Given the description of an element on the screen output the (x, y) to click on. 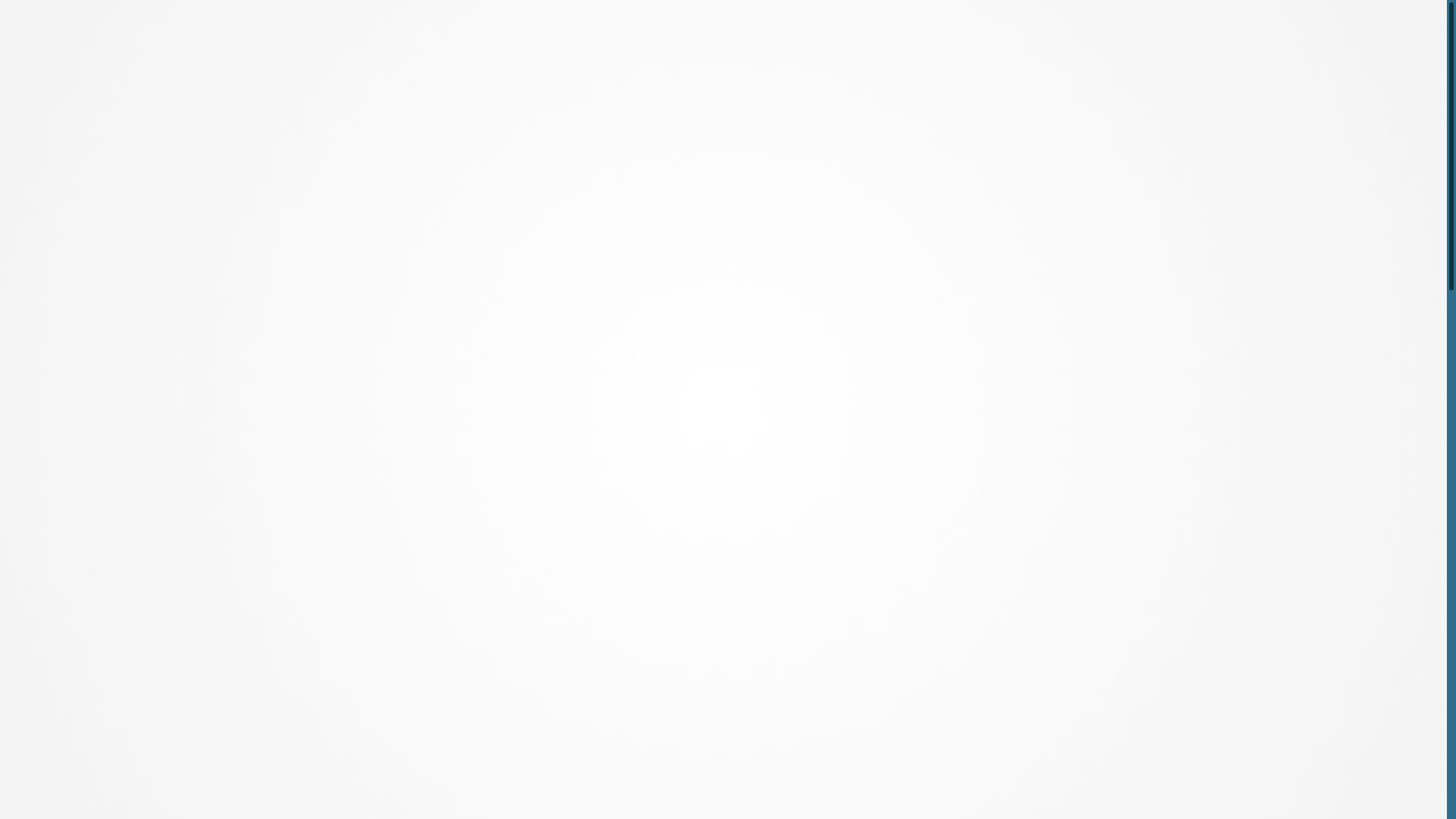
FIND YOUR ASSISTANT (1044, 23)
EMPLOYERS (658, 71)
JOB SEEKERS (844, 71)
